Given the description of an element on the screen output the (x, y) to click on. 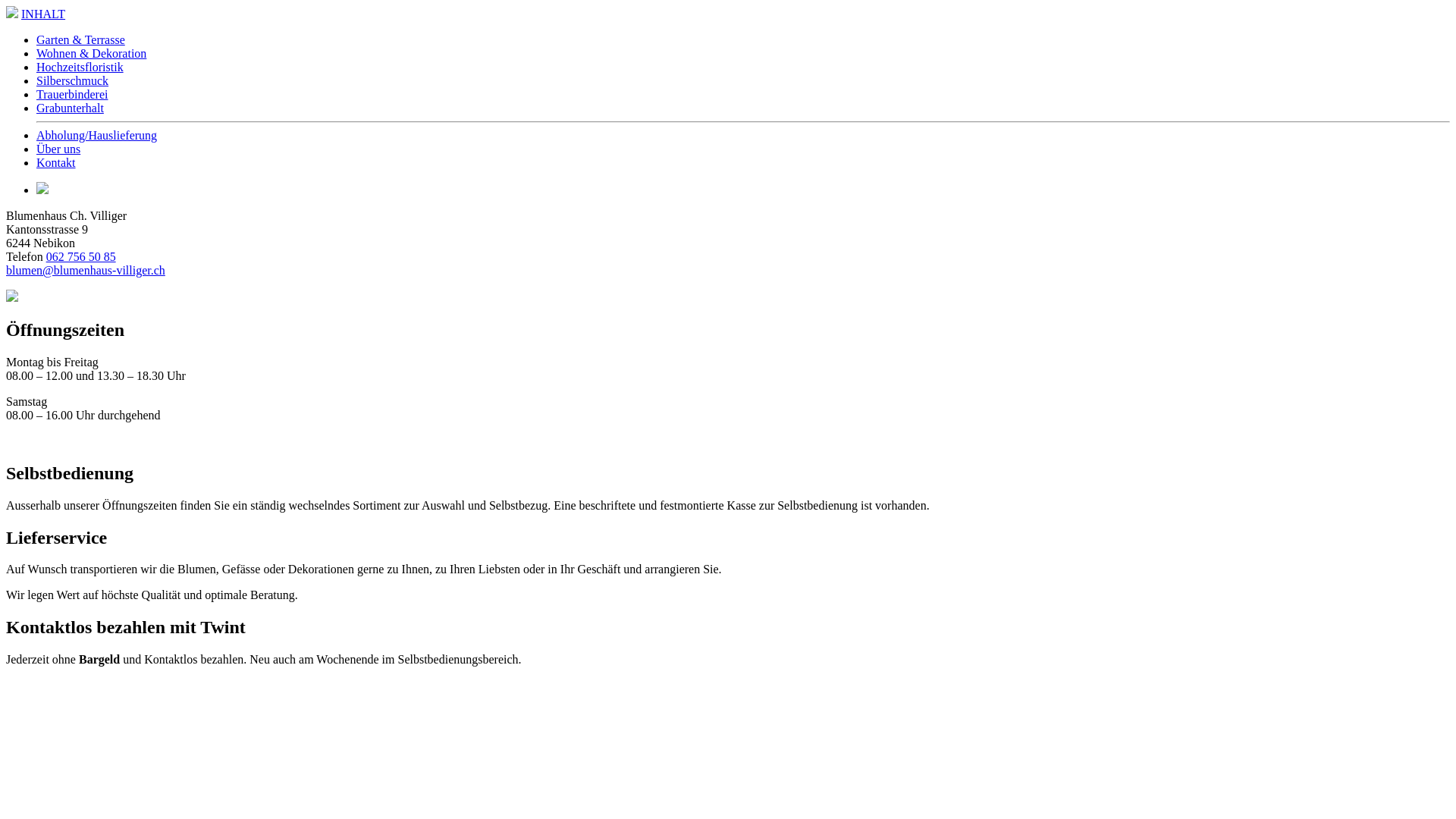
Abholung/Hauslieferung Element type: text (96, 134)
Garten & Terrasse Element type: text (80, 39)
Hochzeitsfloristik Element type: text (79, 66)
Trauerbinderei Element type: text (72, 93)
Grabunterhalt Element type: text (69, 107)
INHALT Element type: text (43, 13)
Silberschmuck Element type: text (72, 80)
Kontakt Element type: text (55, 162)
062 756 50 85 Element type: text (81, 256)
Wohnen & Dekoration Element type: text (91, 53)
blumen@blumenhaus-villiger.ch Element type: text (85, 269)
